Given the description of an element on the screen output the (x, y) to click on. 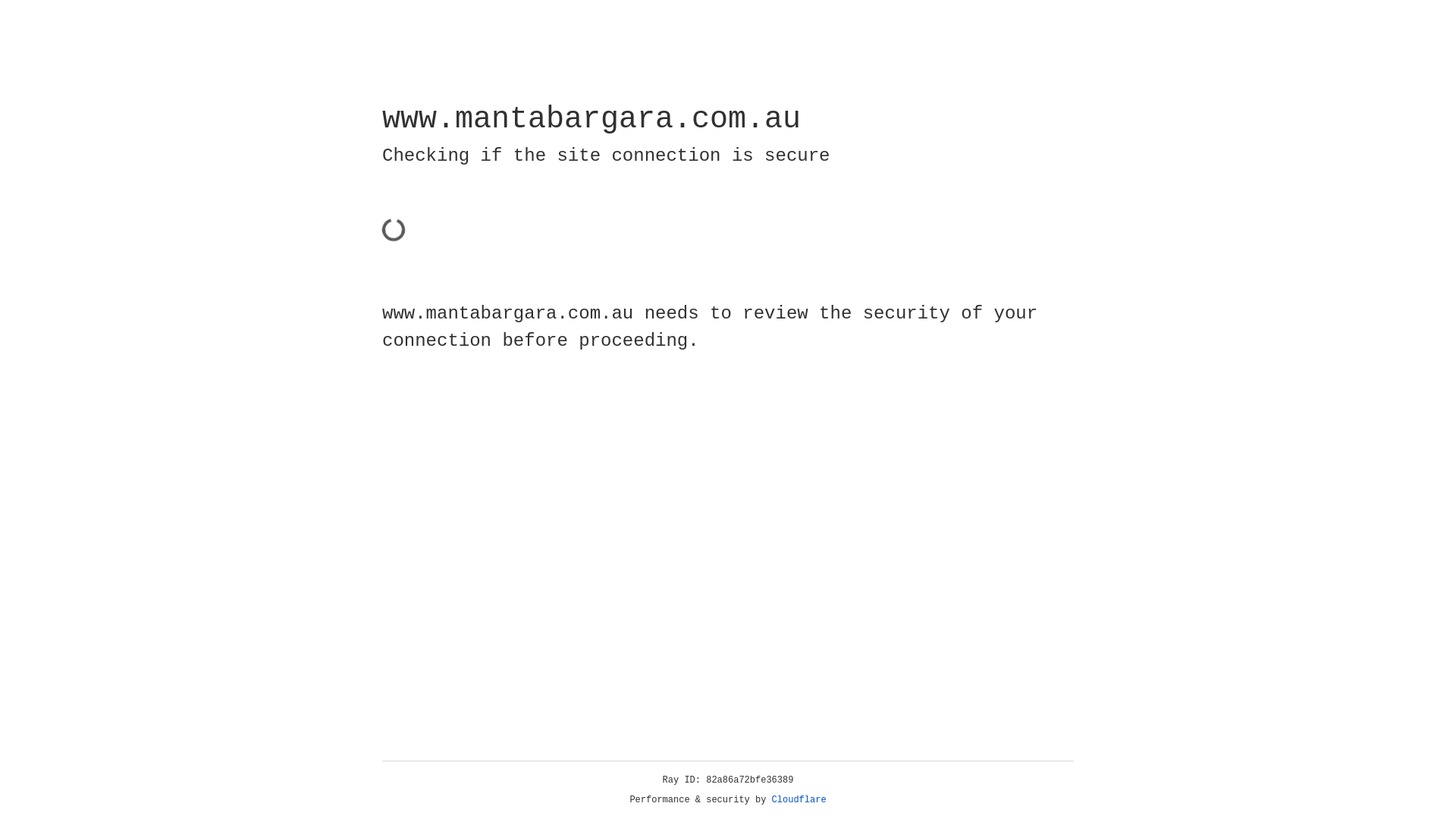
Cloudflare Element type: text (798, 799)
